Given the description of an element on the screen output the (x, y) to click on. 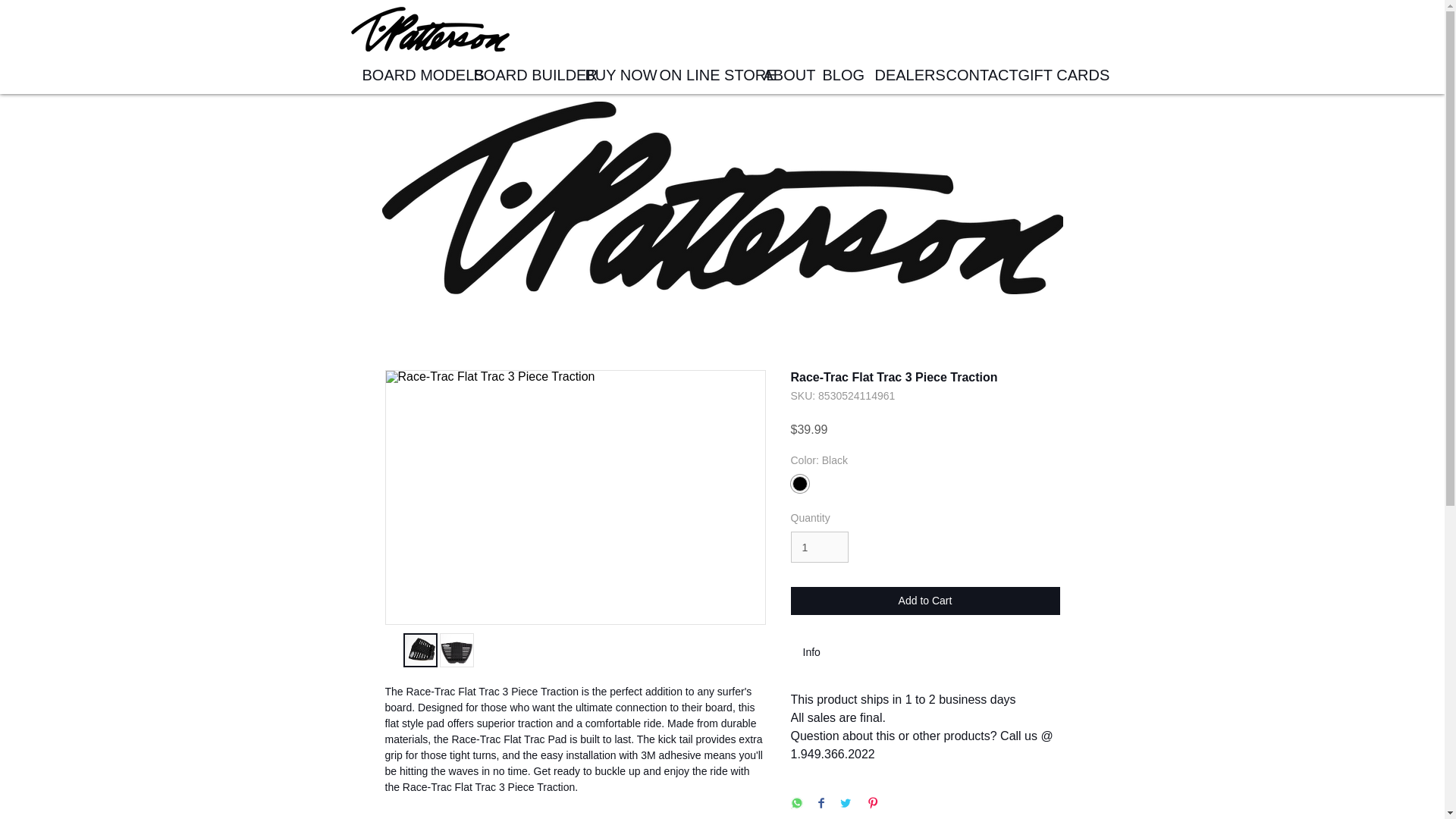
BLOG (836, 75)
BOARD MODELS (405, 75)
ABOUT (781, 75)
DEALERS (898, 75)
1 (818, 546)
GIFT CARDS (1050, 75)
Add to Cart (924, 601)
ON LINE STORE (699, 75)
CONTACT (970, 75)
Use right and left arrows to navigate between tabs (818, 652)
